Given the description of an element on the screen output the (x, y) to click on. 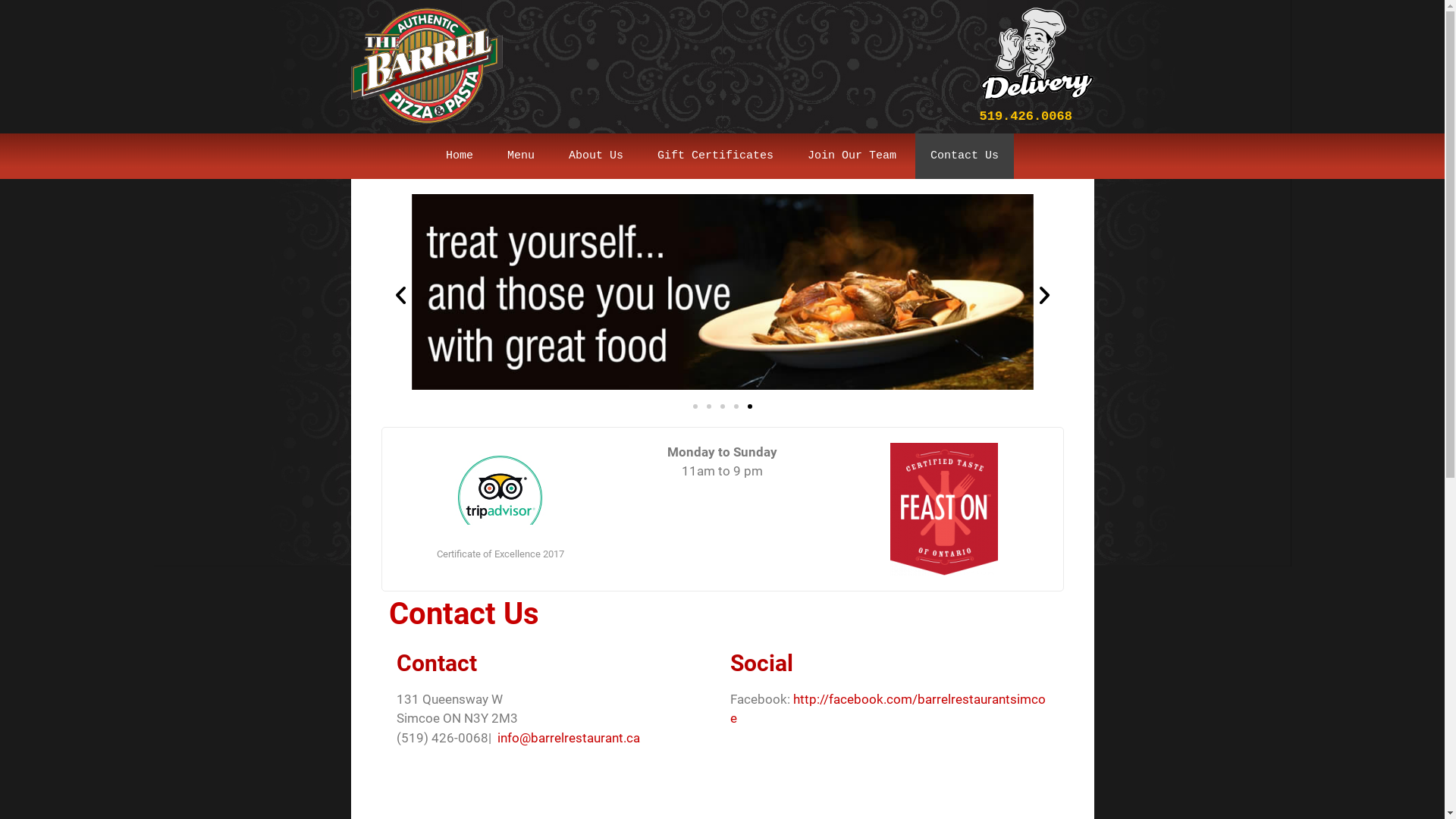
info@barrelrestaurant.ca Element type: text (568, 737)
About Us Element type: text (595, 155)
Contact Us Element type: text (964, 155)
Gift Certificates Element type: text (715, 155)
Menu Element type: text (520, 155)
Home Element type: text (459, 155)
Join Our Team Element type: text (851, 155)
FeastON Element type: hover (943, 508)
http://facebook.com/barrelrestaurantsimcoe Element type: text (886, 708)
